Given the description of an element on the screen output the (x, y) to click on. 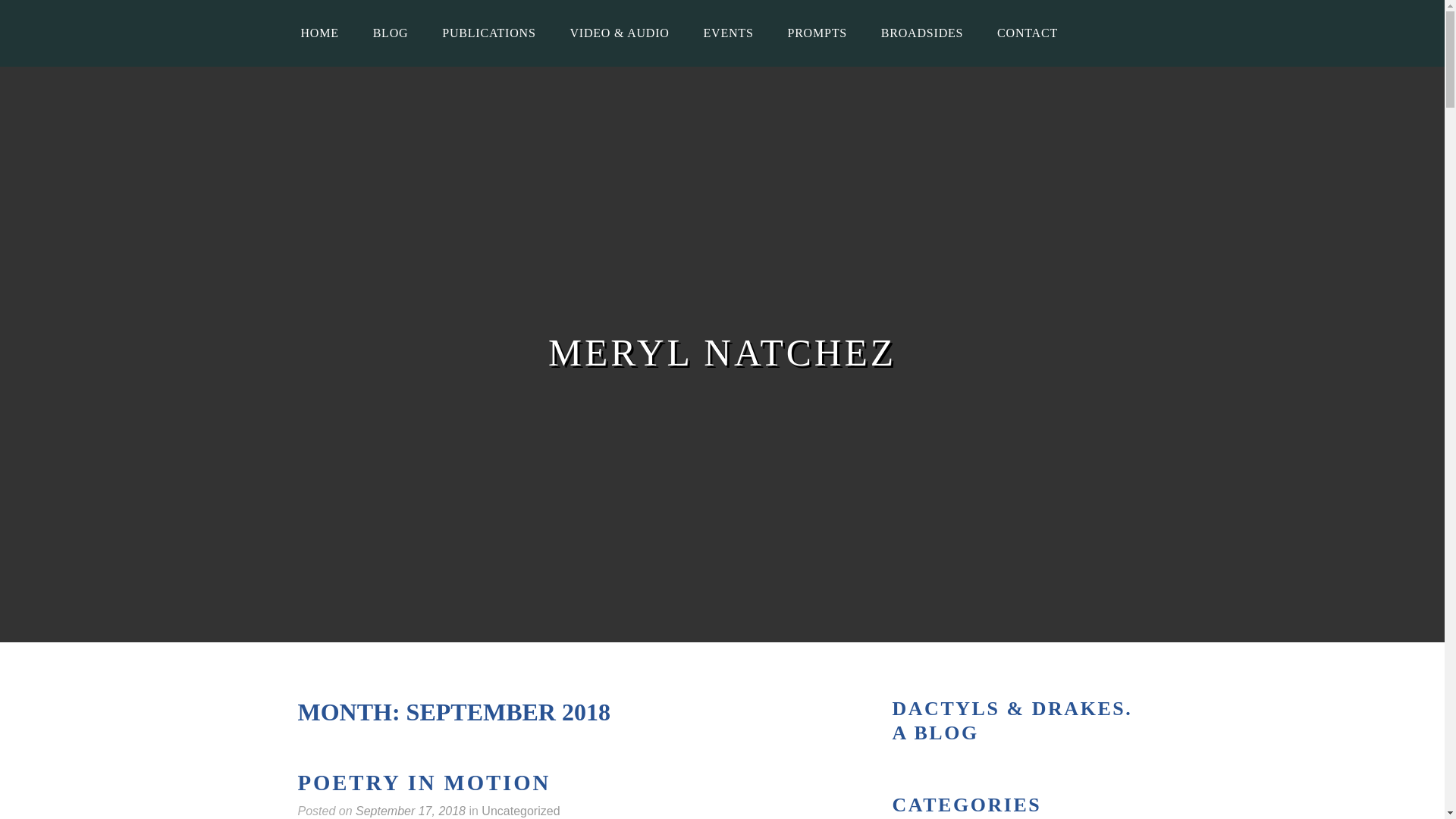
POETRY IN MOTION (423, 783)
BLOG (390, 33)
September 17, 2018 (410, 811)
Uncategorized (520, 811)
HOME (319, 33)
MERYL NATCHEZ (722, 352)
BROADSIDES (922, 33)
PROMPTS (816, 33)
CONTACT (1027, 33)
